Given the description of an element on the screen output the (x, y) to click on. 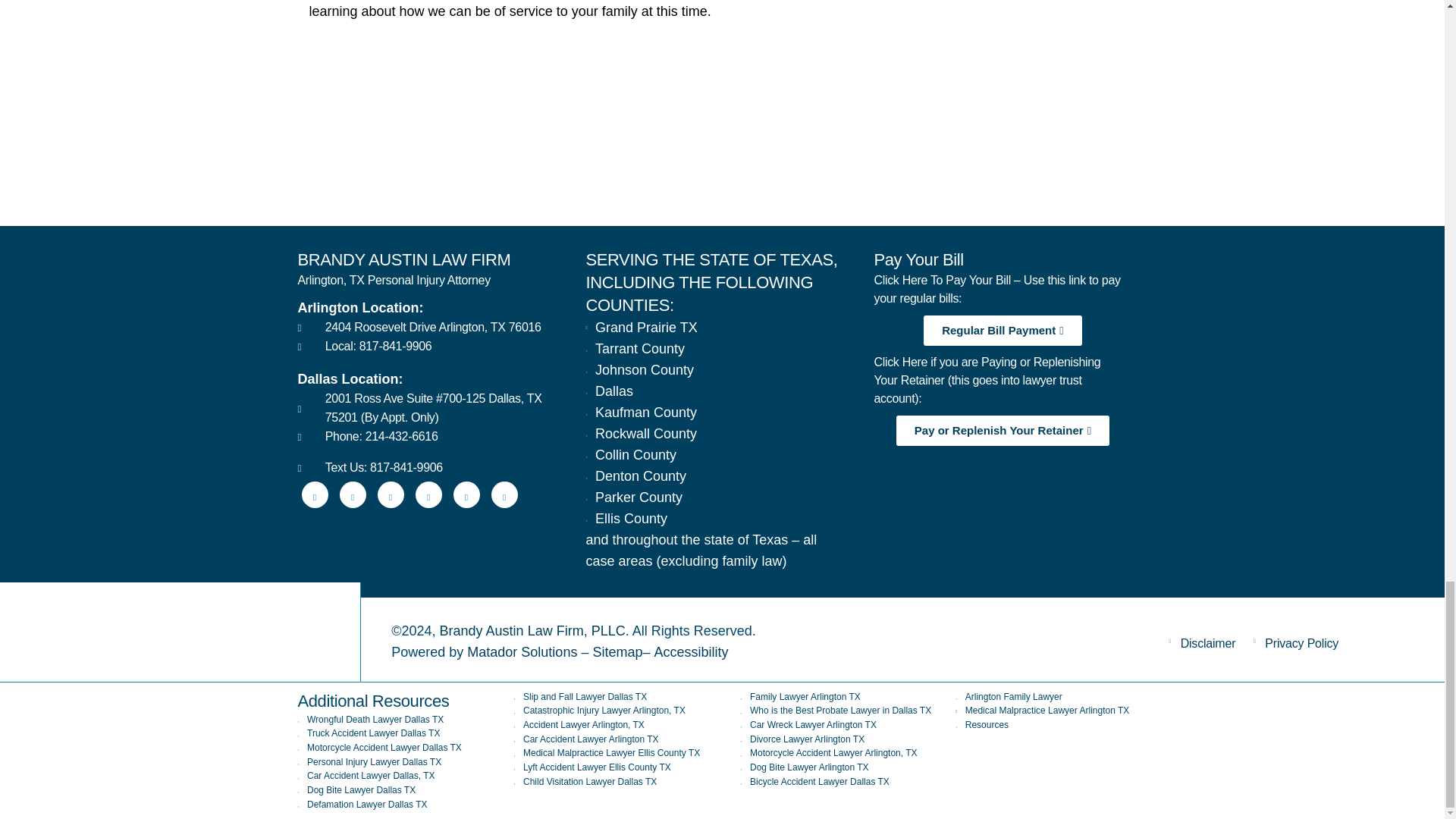
American Institution of Legal Counsel (858, 161)
Avvo Rating - Top Attorney (380, 161)
NAELA (1097, 161)
Super Lawyers (619, 161)
